Given the description of an element on the screen output the (x, y) to click on. 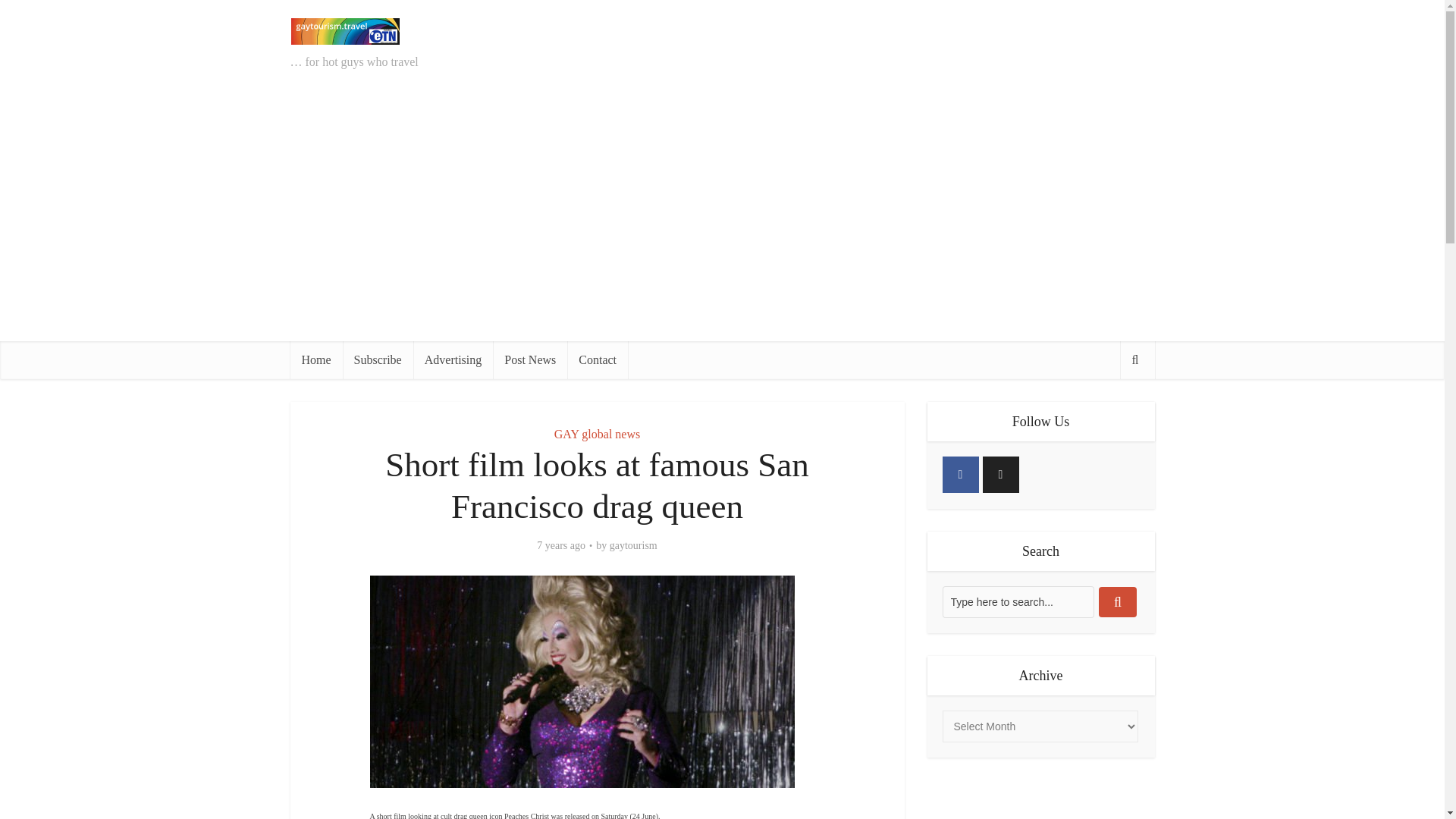
GAY global news (597, 433)
gaytourism (634, 545)
Type here to search... (1017, 602)
Advertising (453, 360)
Contact (597, 360)
Post News (530, 360)
Type here to search... (1017, 602)
Home (315, 360)
Subscribe (377, 360)
